Given the description of an element on the screen output the (x, y) to click on. 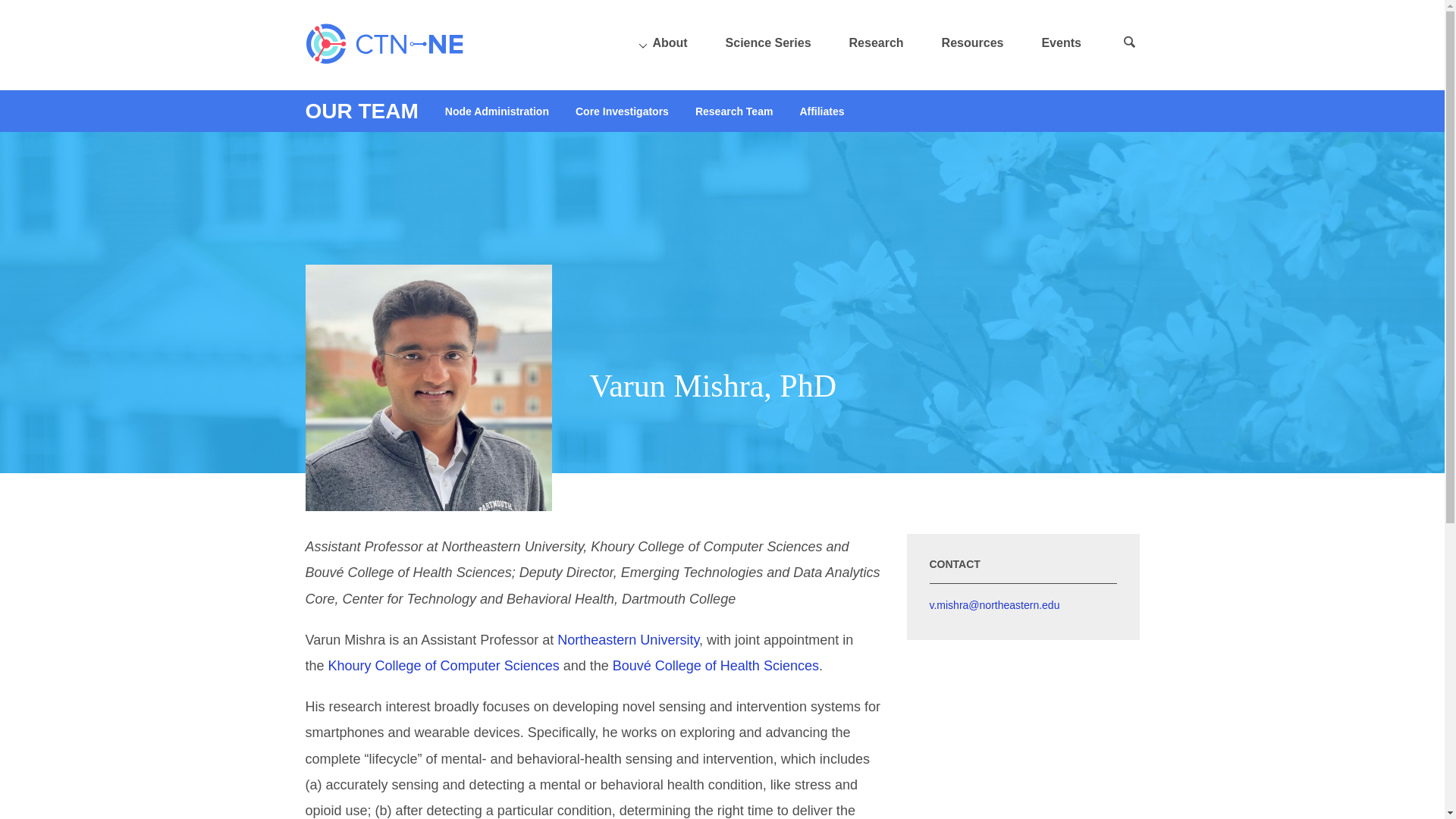
Varun (427, 387)
Events (1060, 42)
Khoury College of Computer Sciences (444, 665)
Science Series (767, 42)
Node Administration (496, 111)
About (1315, 83)
About (669, 42)
Science Series (767, 42)
OUR TEAM (360, 110)
Research Team (734, 111)
Core Investigators (621, 111)
Resources (973, 42)
Research (876, 42)
Events (1060, 42)
Resources (973, 42)
